Given the description of an element on the screen output the (x, y) to click on. 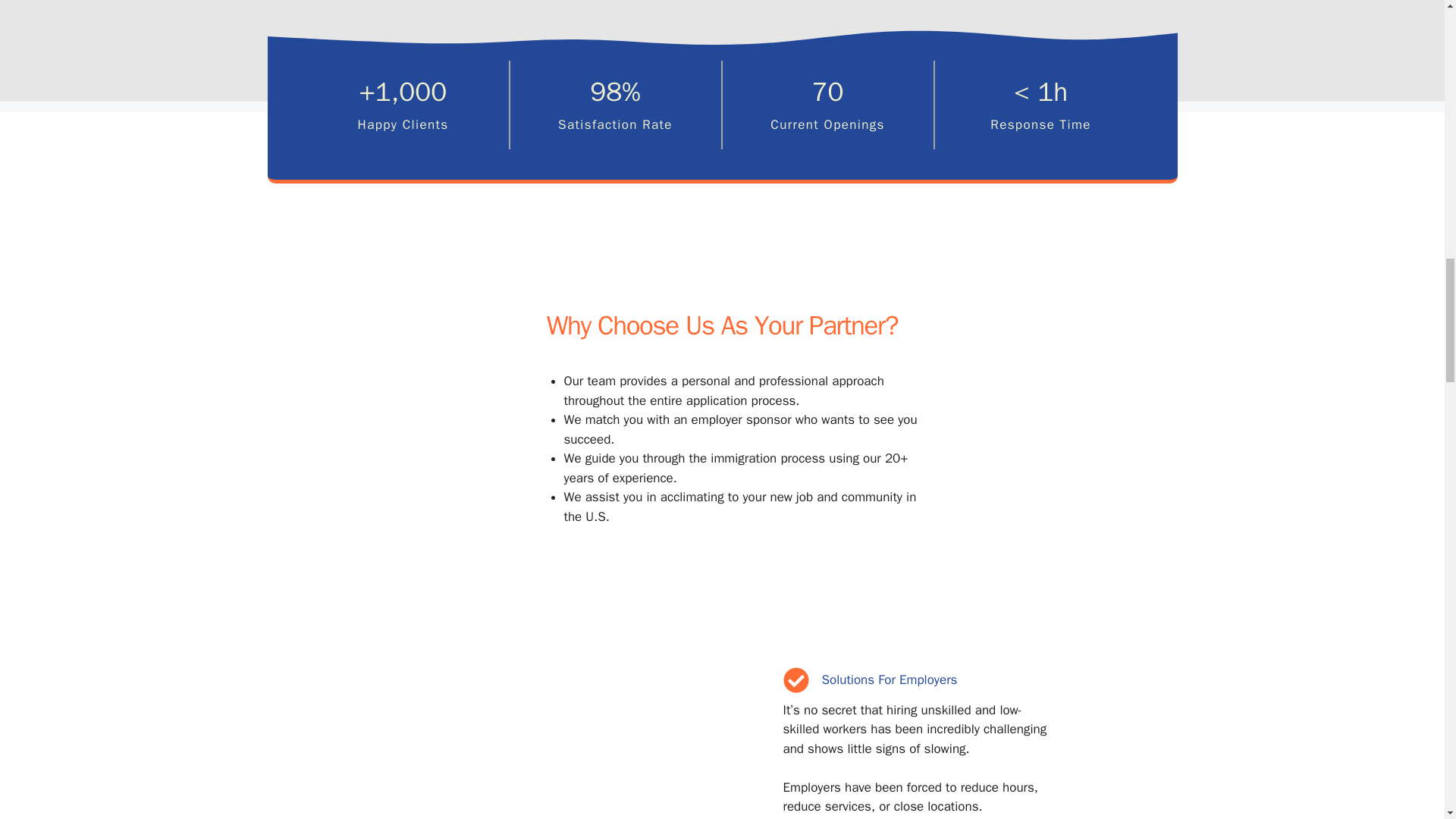
Solutions For Employers (890, 679)
